Given the description of an element on the screen output the (x, y) to click on. 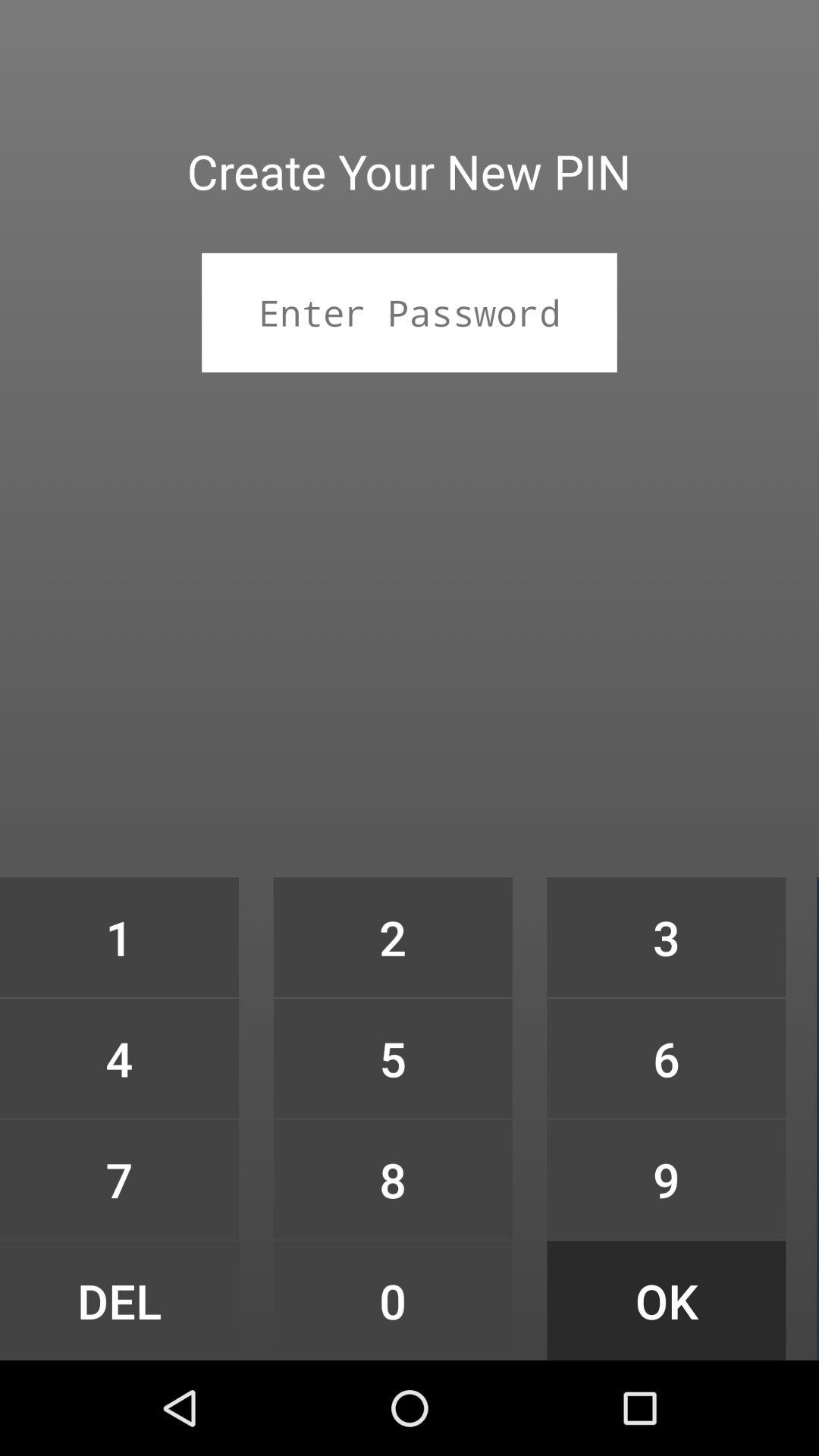
select the item next to the 7 icon (392, 1300)
